Given the description of an element on the screen output the (x, y) to click on. 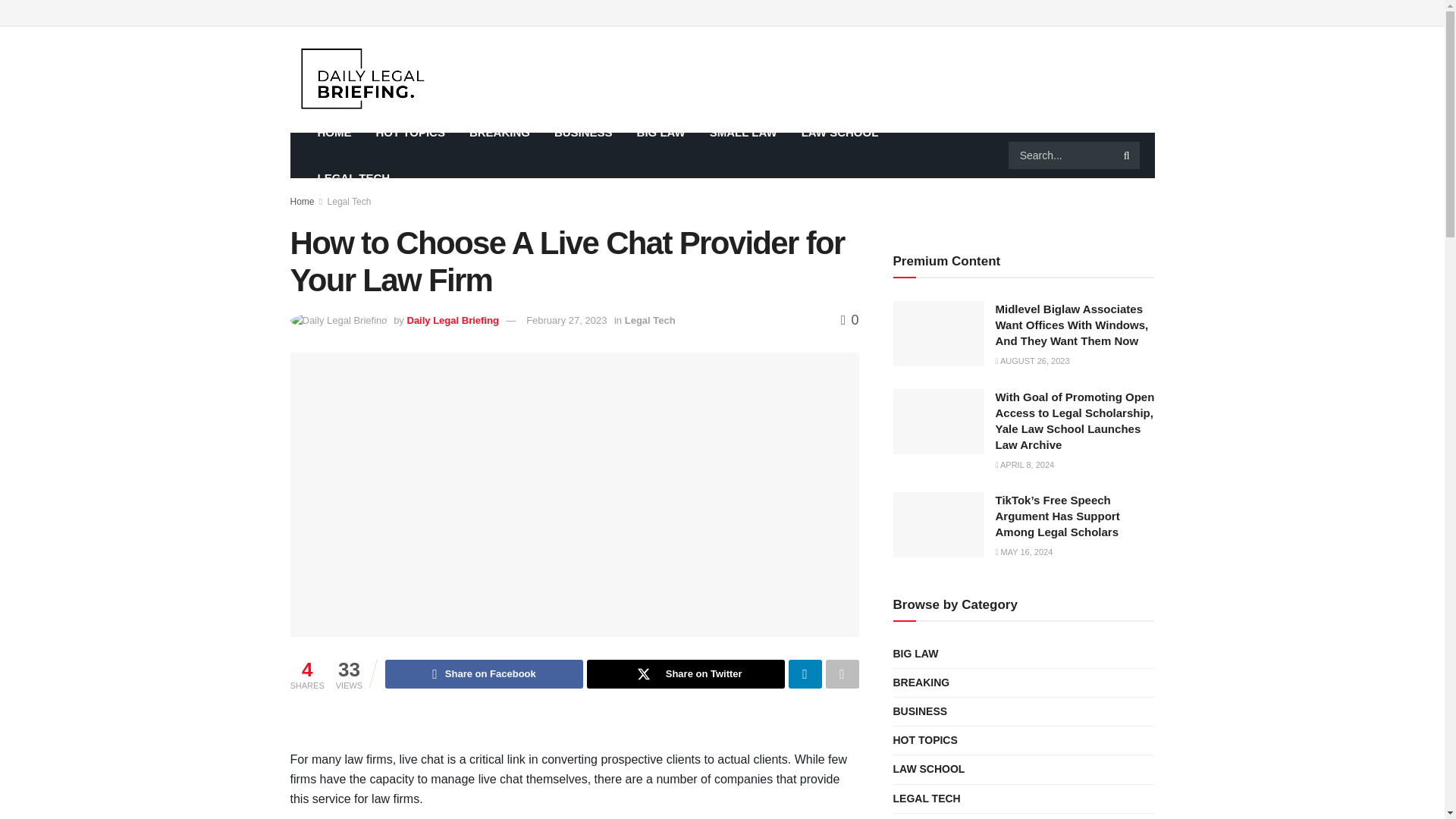
Share on Facebook (484, 674)
LAW SCHOOL (840, 132)
Daily Legal Briefing (451, 319)
Share on Twitter (685, 674)
LEGAL TECH (352, 177)
Legal Tech (349, 201)
HOME (333, 132)
Legal Tech (649, 319)
BUSINESS (582, 132)
Home (301, 201)
HOT TOPICS (410, 132)
SMALL LAW (743, 132)
0 (850, 319)
February 27, 2023 (566, 319)
BIG LAW (660, 132)
